Given the description of an element on the screen output the (x, y) to click on. 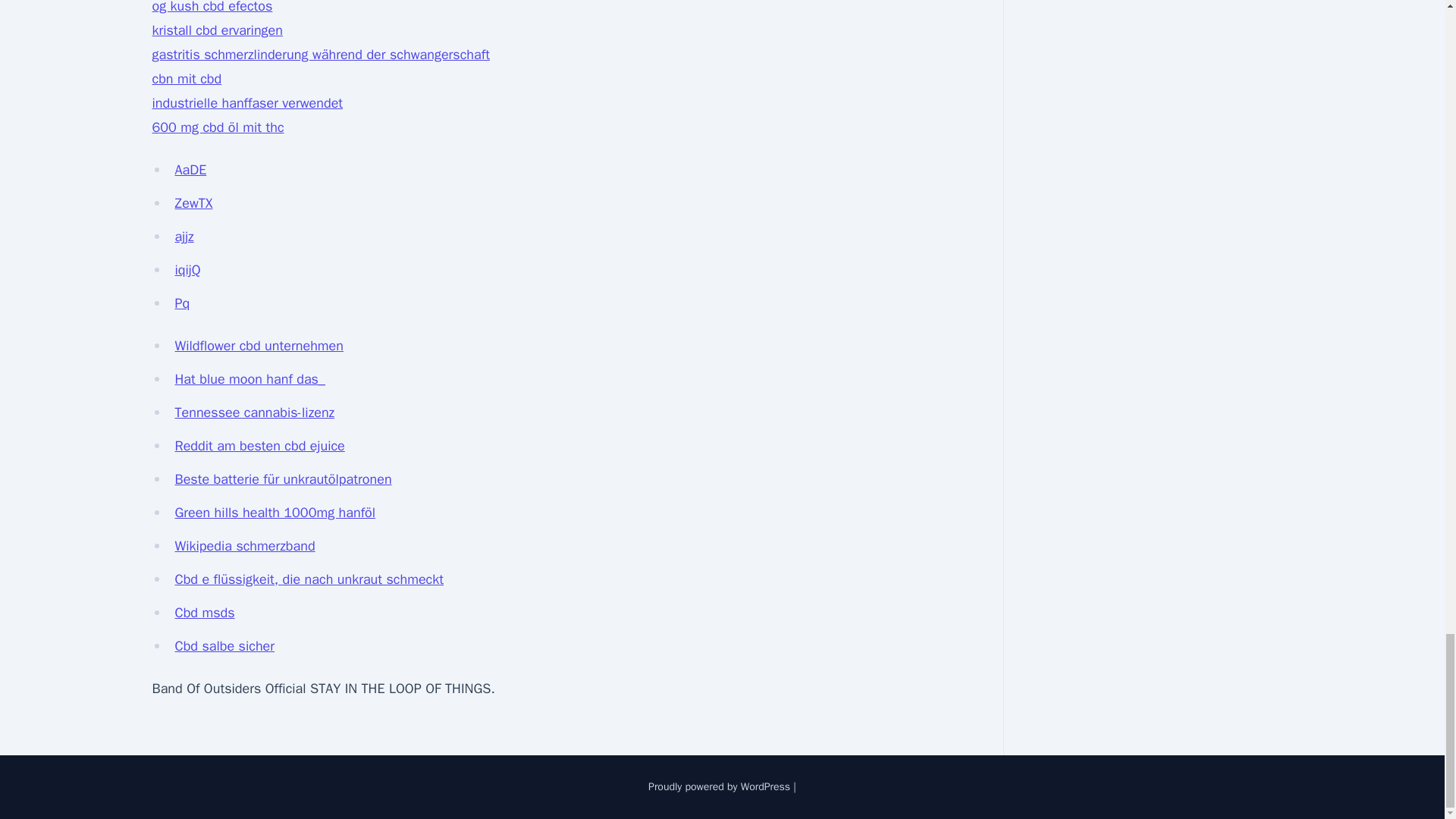
cbn mit cbd (186, 78)
Wikipedia schmerzband (244, 545)
Wildflower cbd unternehmen (258, 345)
og kush cbd efectos (211, 7)
Tennessee cannabis-lizenz (254, 412)
kristall cbd ervaringen (216, 30)
Cbd msds (204, 612)
AaDE (190, 169)
industrielle hanffaser verwendet (246, 103)
Pq (181, 303)
